Given the description of an element on the screen output the (x, y) to click on. 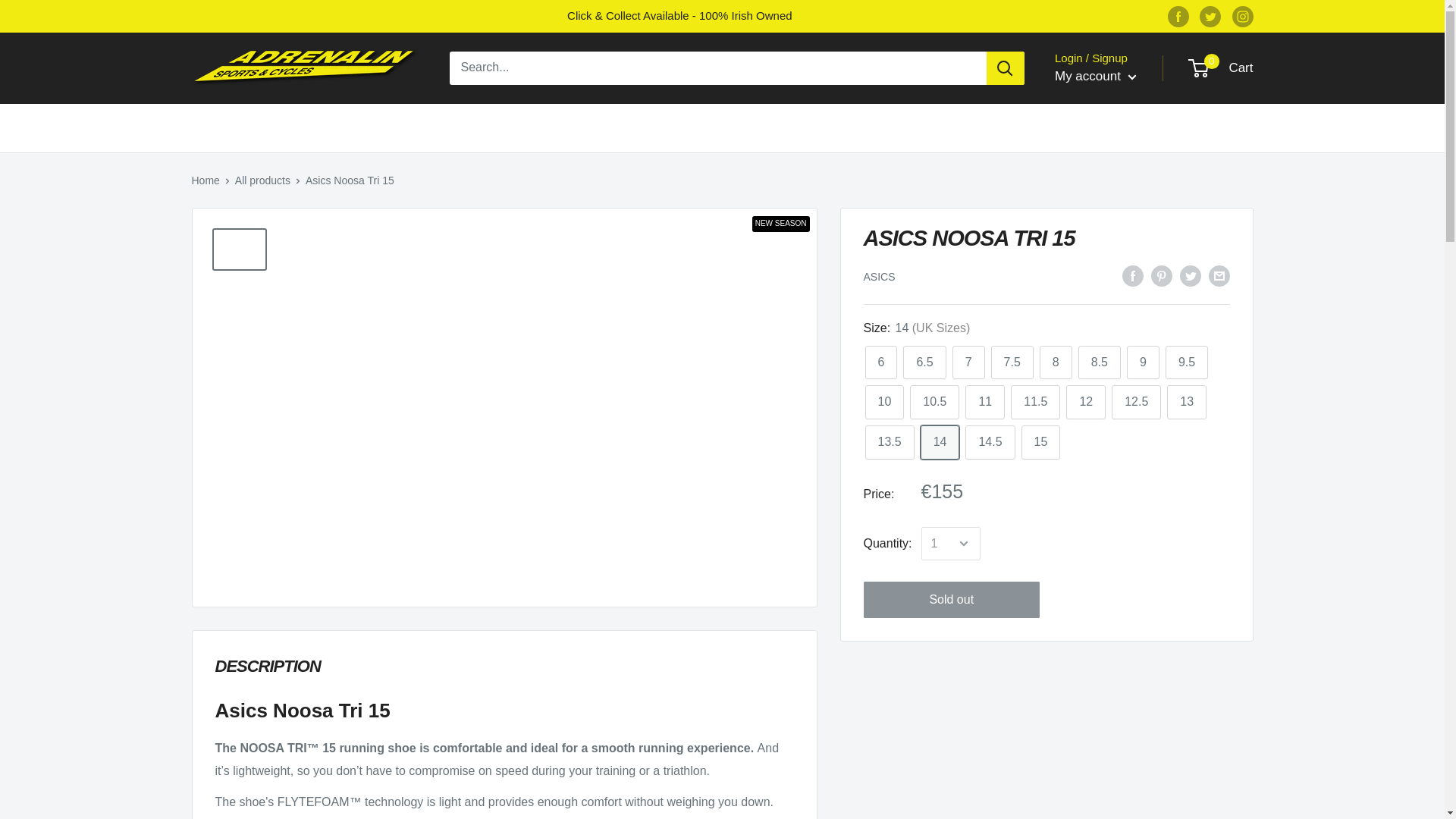
15 (1041, 442)
13.5 (889, 442)
7.5 (1012, 362)
11 (984, 401)
10 (884, 401)
6.5 (923, 362)
11.5 (1034, 401)
9.5 (1187, 362)
8.5 (1099, 362)
6 (880, 362)
10.5 (934, 401)
8 (1055, 362)
14.5 (989, 442)
14 (939, 442)
13 (1187, 401)
